Given the description of an element on the screen output the (x, y) to click on. 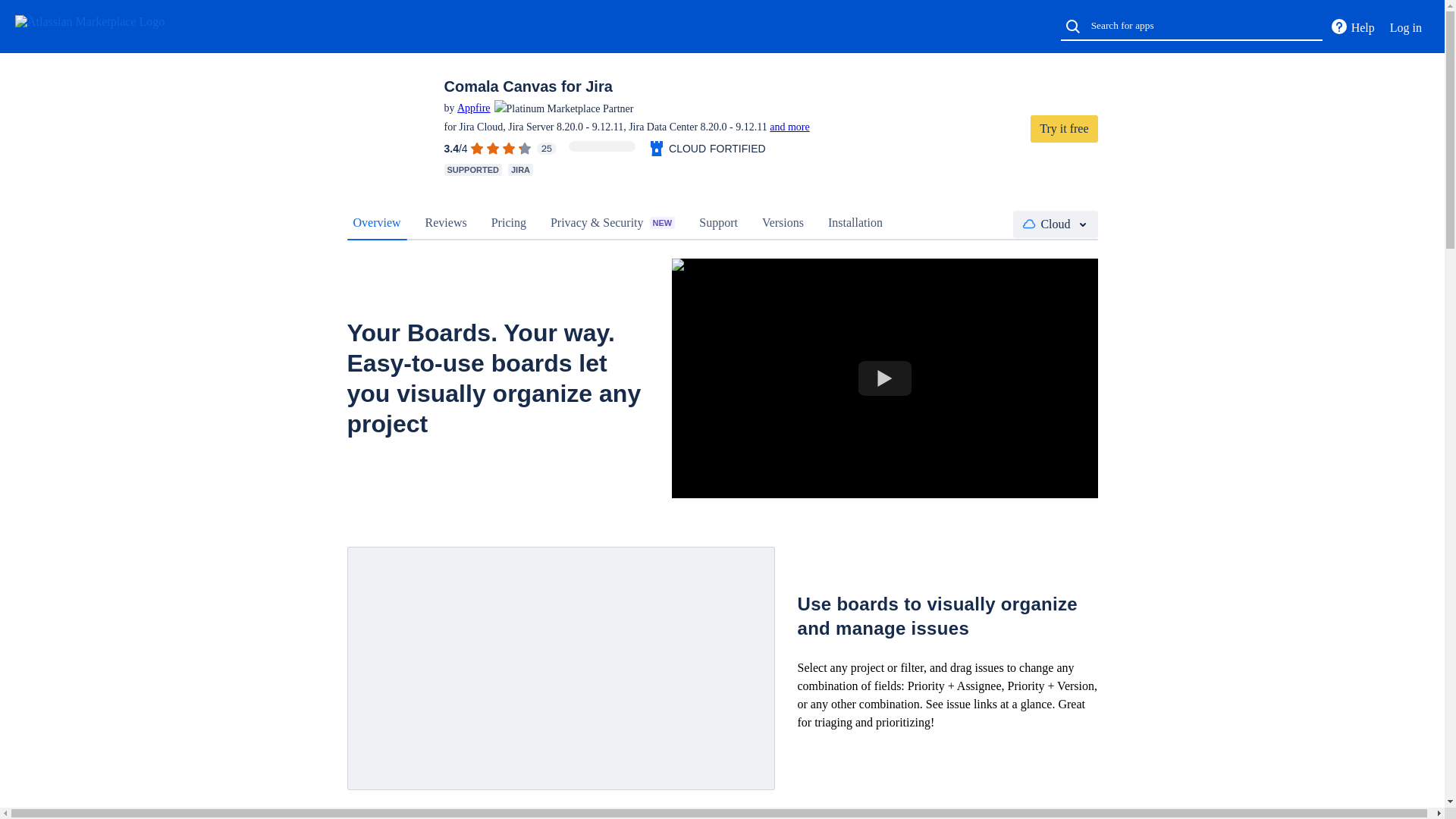
Cloud (1055, 224)
and more (789, 126)
CLOUD FORTIFIED (706, 148)
View version history for more details (789, 126)
Help (1351, 26)
Try it free (1063, 129)
Appfire (473, 107)
Atlassian Marketplace (105, 26)
Log in (1405, 26)
